Given the description of an element on the screen output the (x, y) to click on. 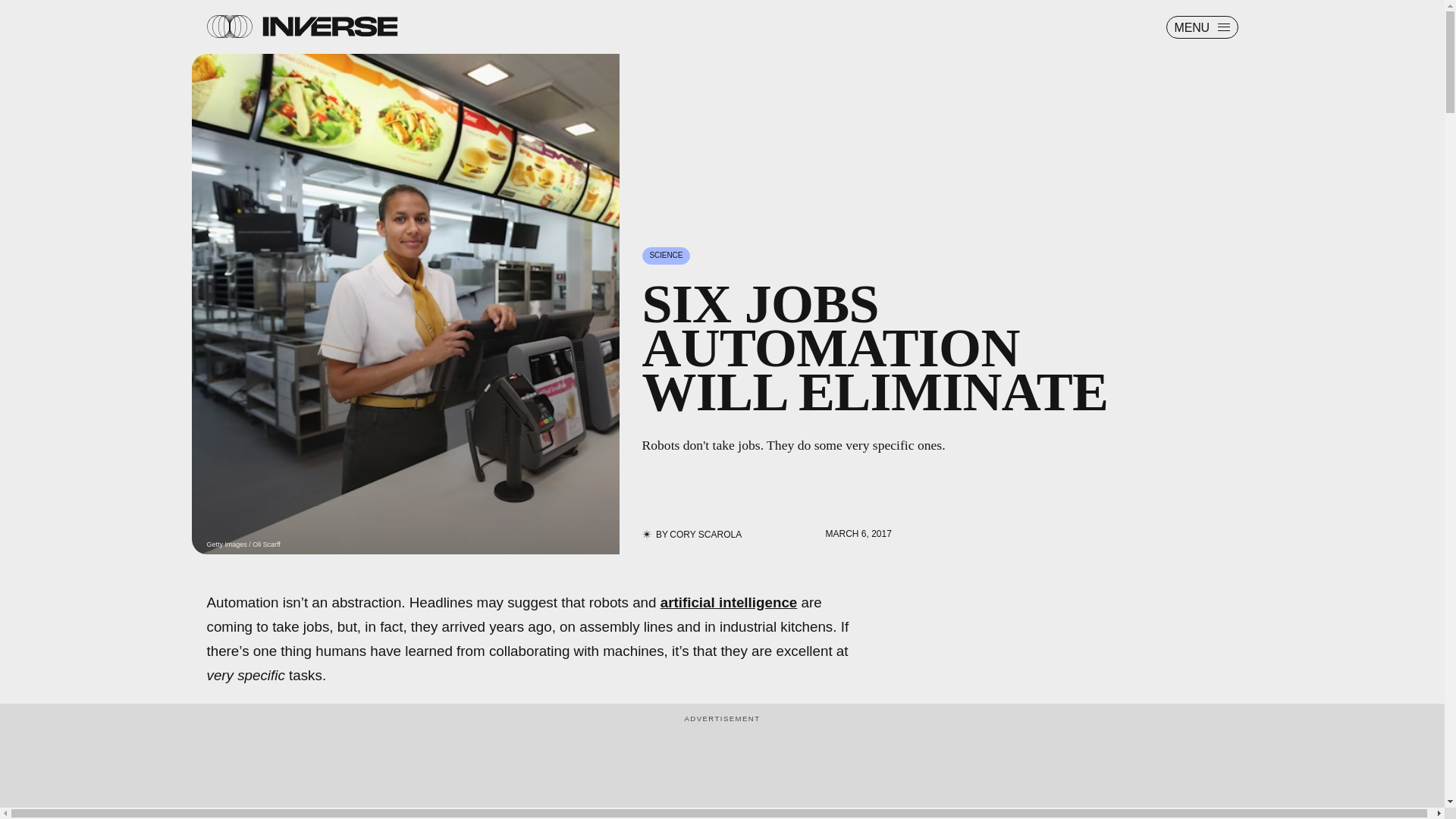
Inverse (328, 26)
CORY SCAROLA (705, 533)
artificial intelligence (729, 602)
